Given the description of an element on the screen output the (x, y) to click on. 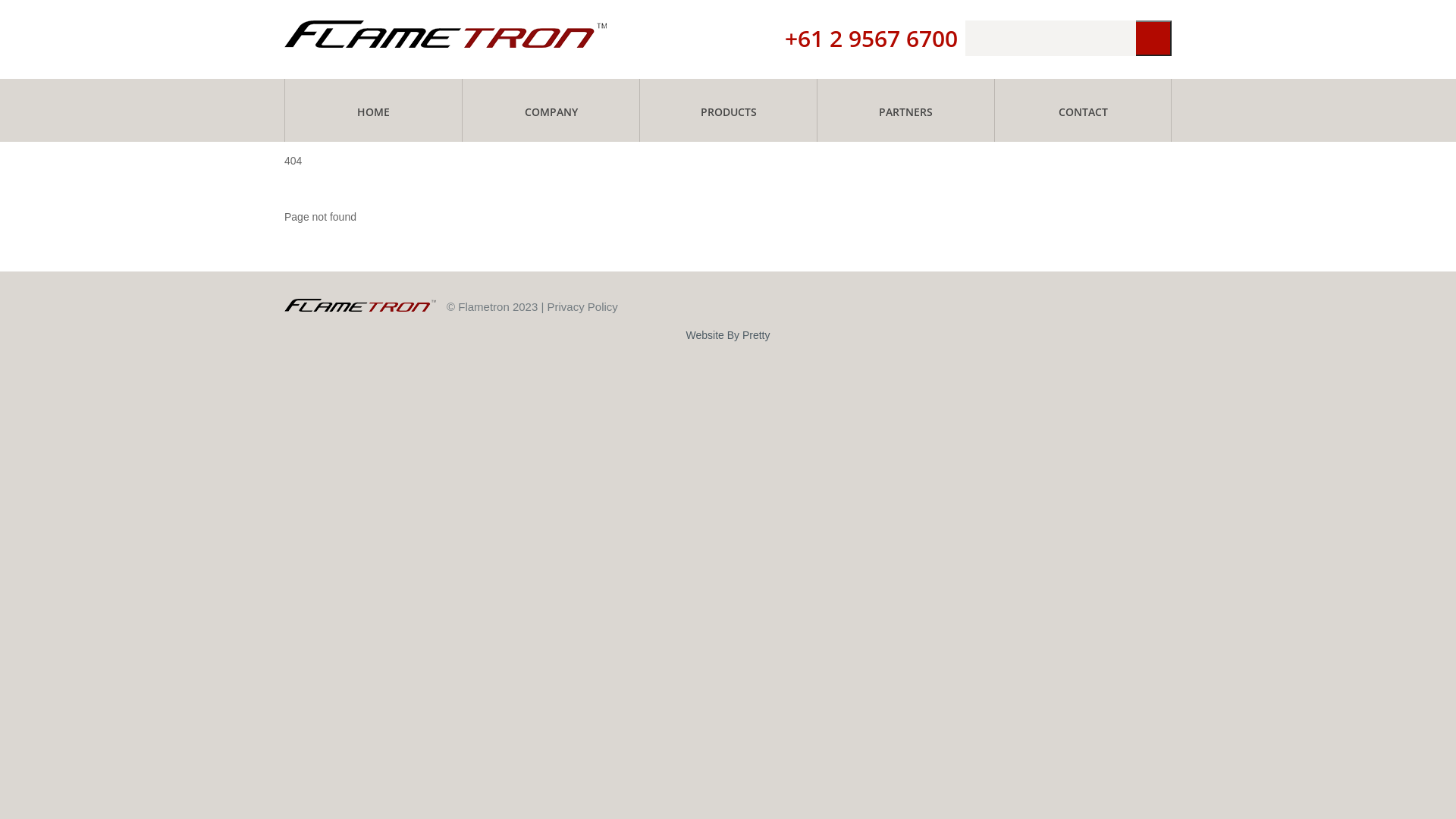
PARTNERS Element type: text (905, 109)
PRODUCTS Element type: text (728, 109)
HOME Element type: text (373, 109)
COMPANY Element type: text (550, 109)
CONTACT Element type: text (1082, 109)
Privacy Policy Element type: text (582, 306)
+61 2 9567 6700 Element type: text (870, 37)
Pretty Element type: text (756, 335)
